Given the description of an element on the screen output the (x, y) to click on. 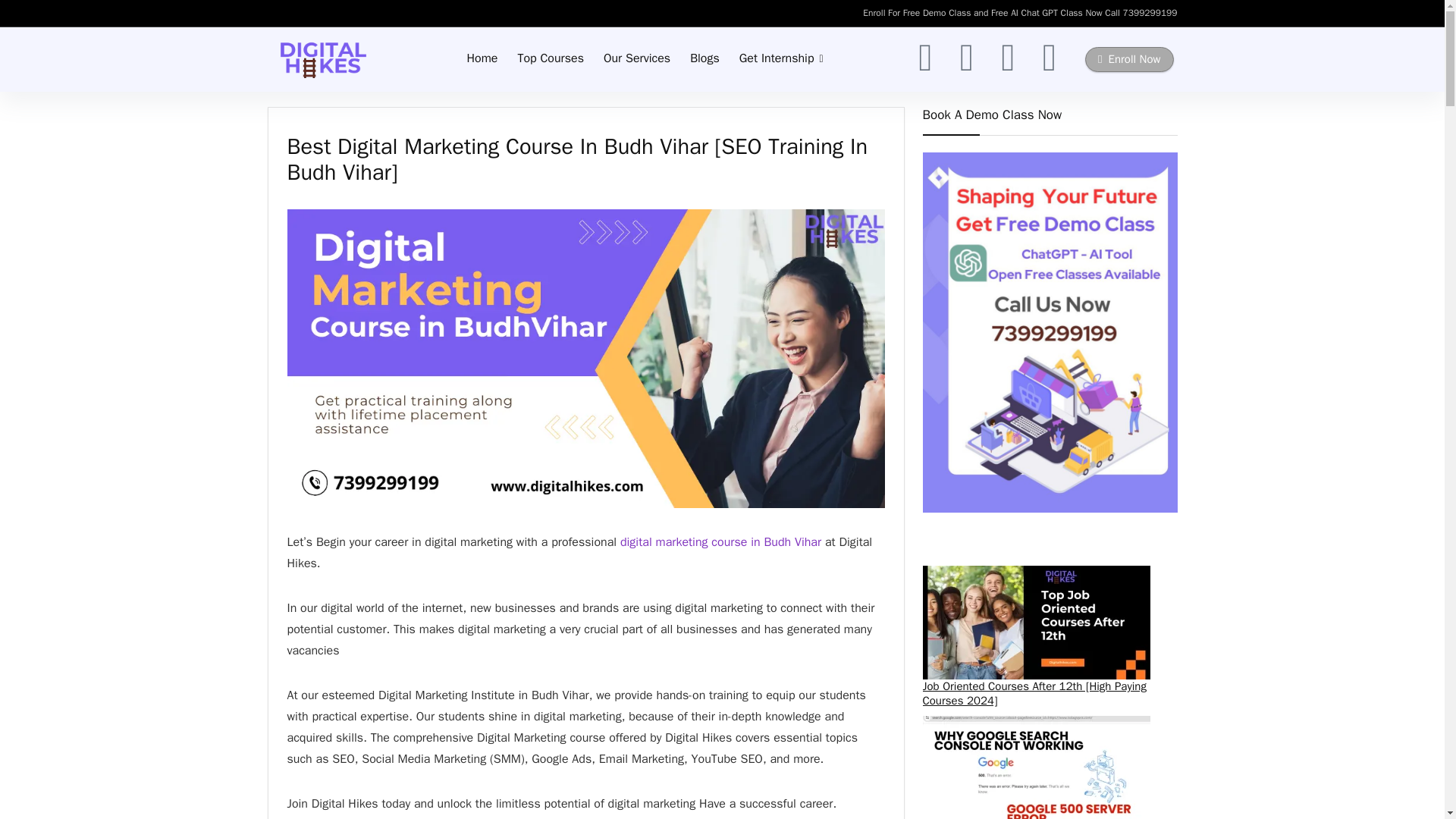
Enroll Now (1128, 59)
Home (481, 59)
digital marketing course in Budh Vihar (720, 541)
Get Internship (780, 59)
Top Courses (550, 59)
Blogs (704, 59)
Our Services (636, 59)
